Given the description of an element on the screen output the (x, y) to click on. 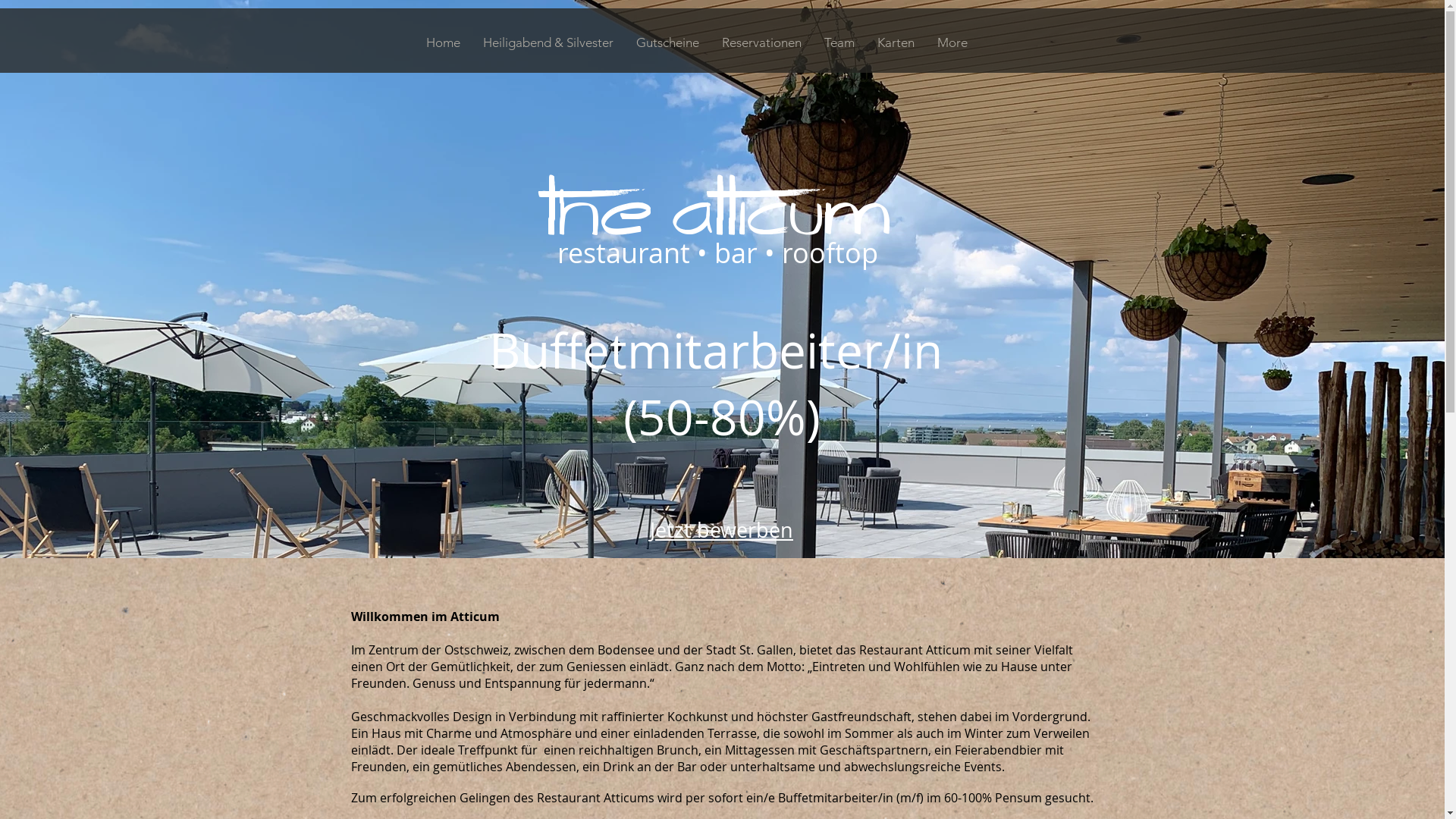
Gutscheine Element type: text (667, 42)
Jetzt bewerben Element type: text (721, 528)
Home Element type: text (442, 42)
Karten Element type: text (895, 42)
Reservationen Element type: text (760, 42)
Heiligabend & Silvester Element type: text (547, 42)
Team Element type: text (839, 42)
